Given the description of an element on the screen output the (x, y) to click on. 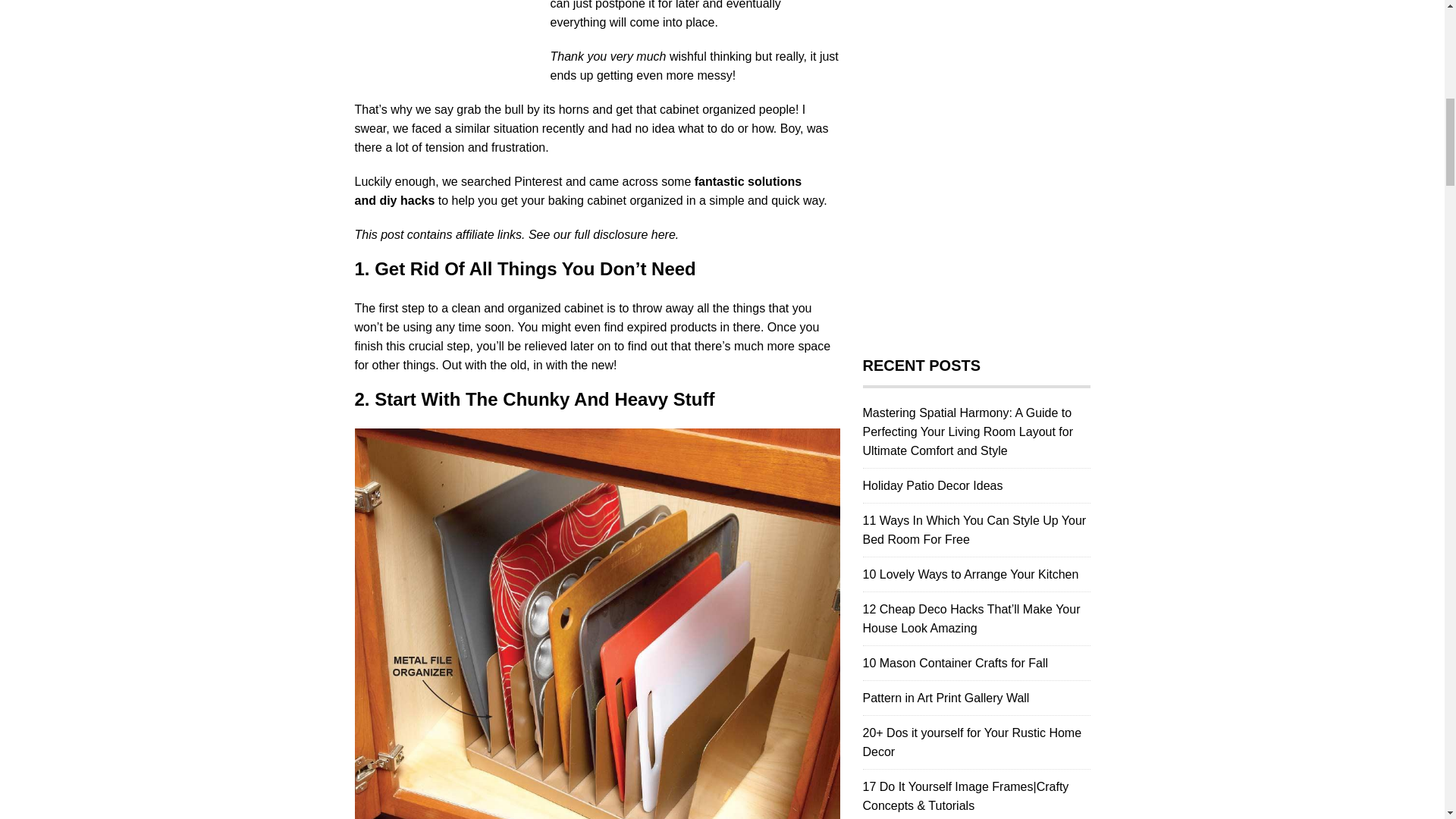
Advertisement (449, 30)
